Given the description of an element on the screen output the (x, y) to click on. 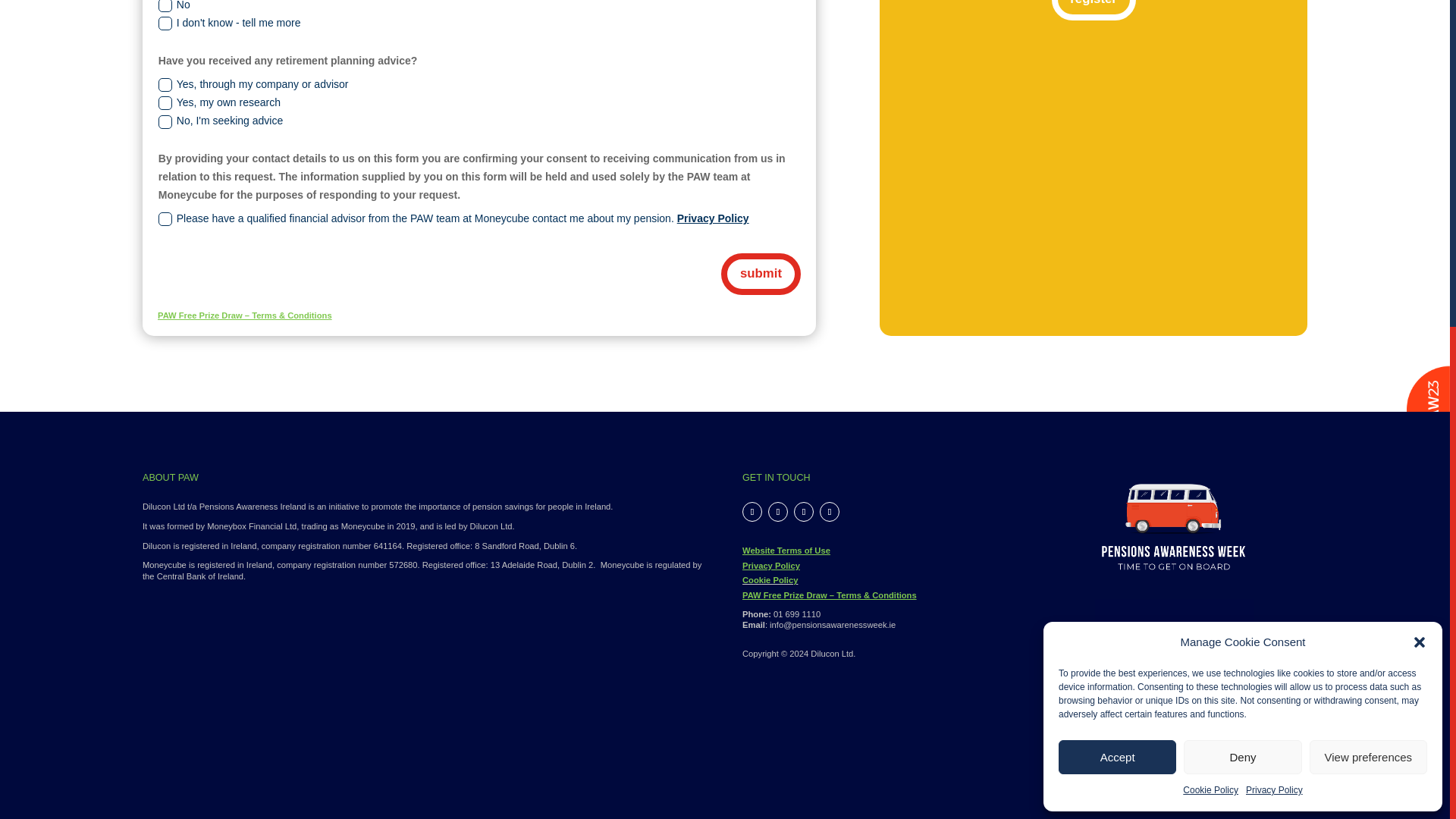
View preferences (1367, 212)
Follow on Instagram (829, 511)
Accept (1117, 212)
Cookie Policy (1210, 246)
Follow on X (777, 511)
Follow on LinkedIn (803, 511)
Deny (1242, 212)
Privacy Policy (770, 565)
Follow on Facebook (751, 511)
Privacy Policy (1274, 246)
1 (1173, 678)
